Given the description of an element on the screen output the (x, y) to click on. 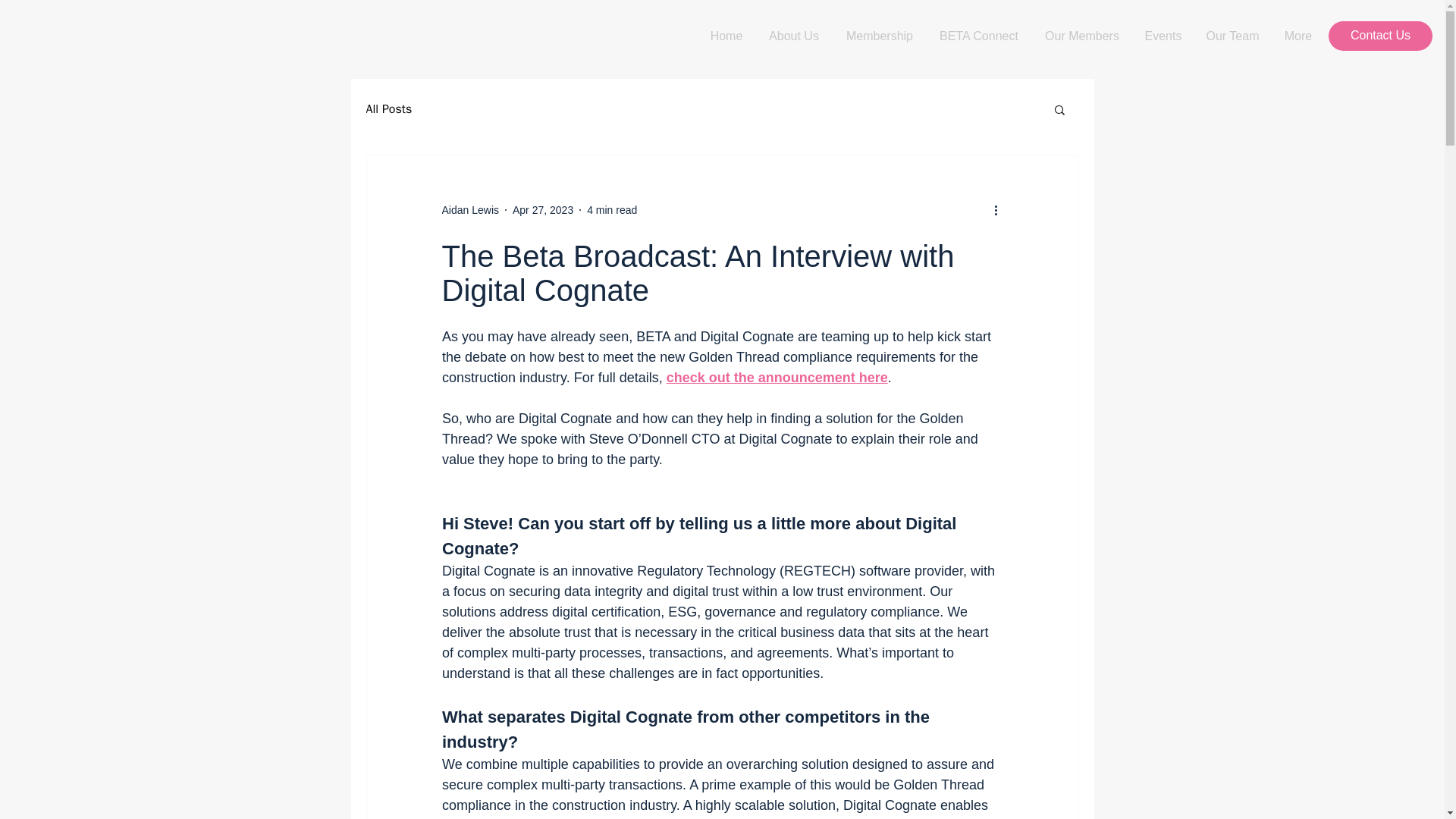
Membership (879, 36)
4 min read (611, 209)
Home (726, 36)
Aidan Lewis (470, 209)
BETA Connect (978, 36)
Our Members (1081, 36)
All Posts (388, 109)
About Us (793, 36)
check out the announcement here (775, 377)
Contact Us (1379, 35)
Apr 27, 2023 (542, 209)
Events (1162, 36)
Our Team (1232, 36)
